Given the description of an element on the screen output the (x, y) to click on. 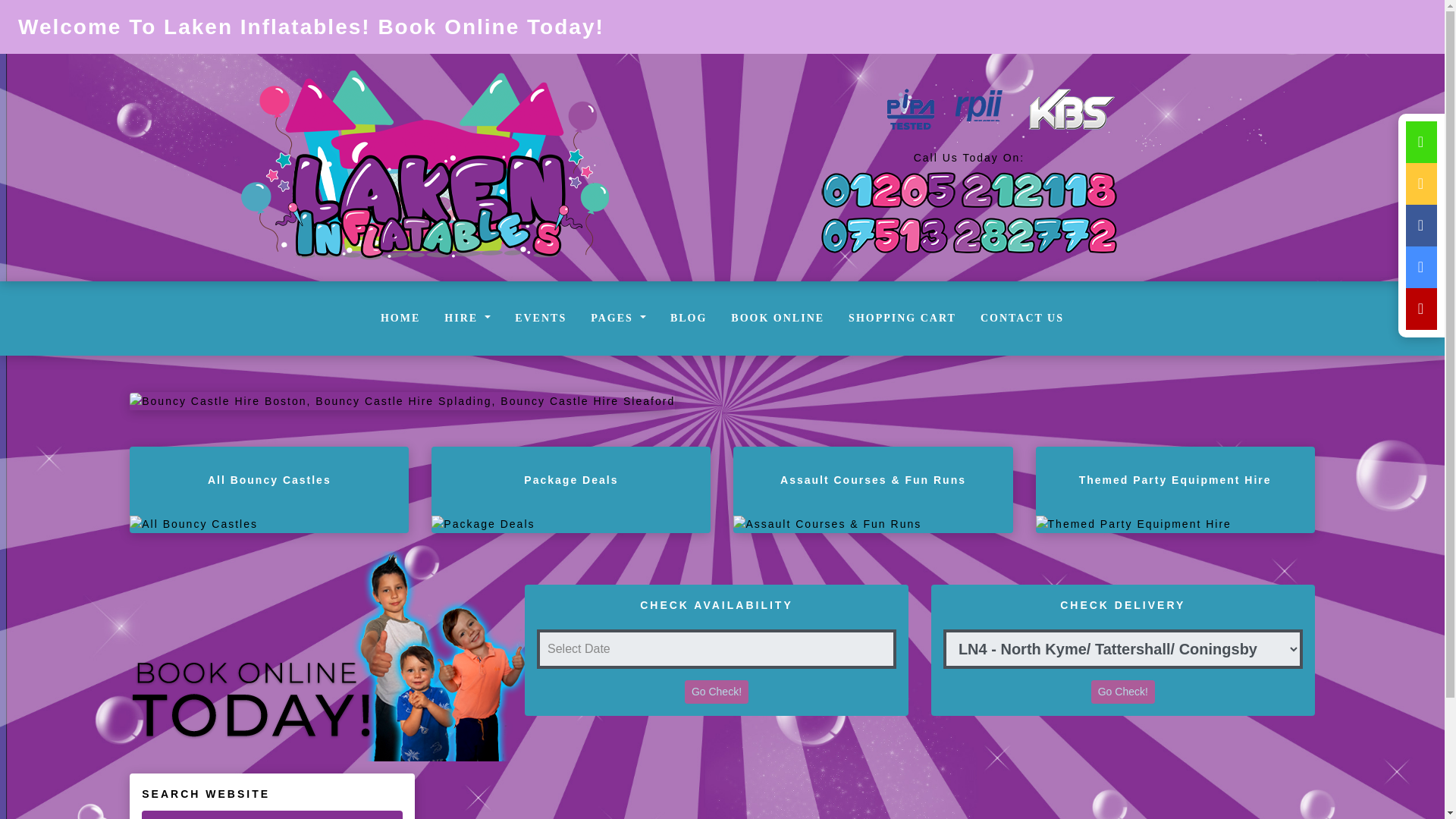
View Our Package Deals (570, 524)
HIRE (467, 318)
View Our Themed Party Equipment Hire (1174, 524)
Call us today! (968, 189)
Laken Inflatables (425, 167)
PIPA Tested (910, 109)
RPII Tested (979, 109)
Go Check! (716, 691)
Laken Inflatables Hire Boston, Spalding, Sleaford (402, 399)
View Our All Bouncy Castles (269, 524)
